Given the description of an element on the screen output the (x, y) to click on. 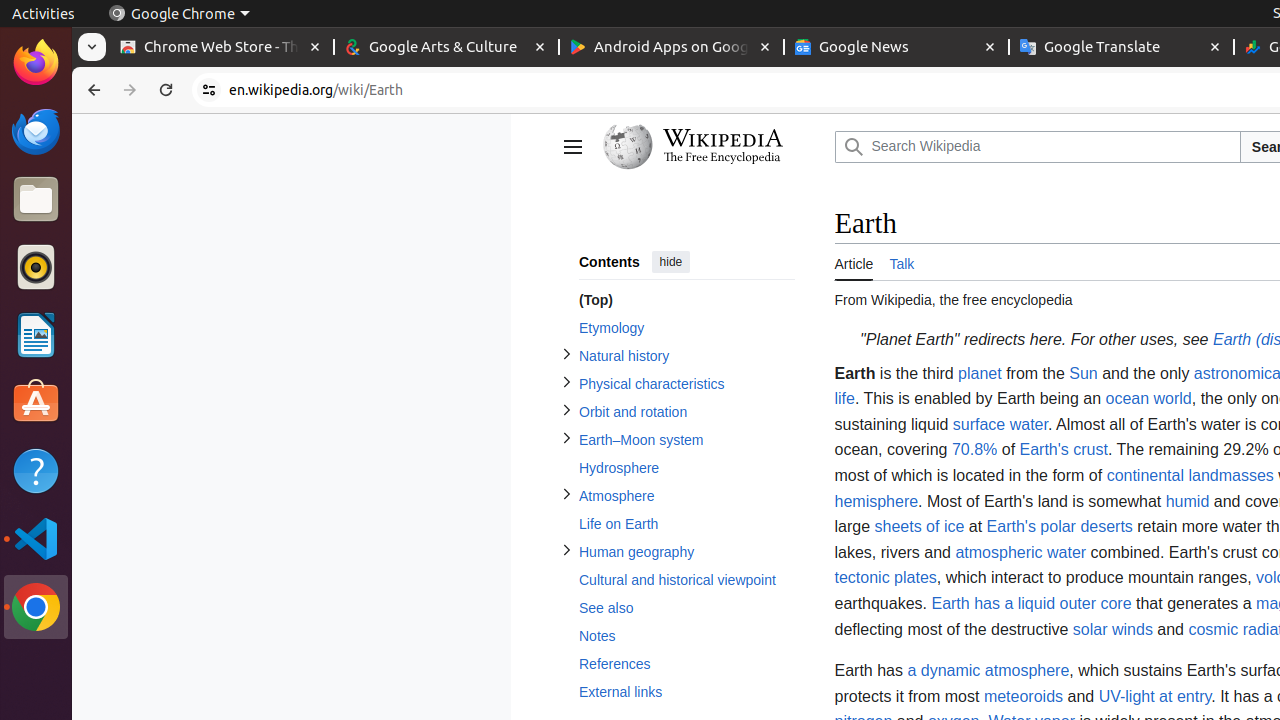
humid Element type: link (1187, 501)
Wikipedia The Free Encyclopedia Element type: link (713, 147)
(Top) Element type: link (686, 300)
Earth's crust Element type: link (1063, 449)
tectonic plates Element type: link (885, 578)
